Given the description of an element on the screen output the (x, y) to click on. 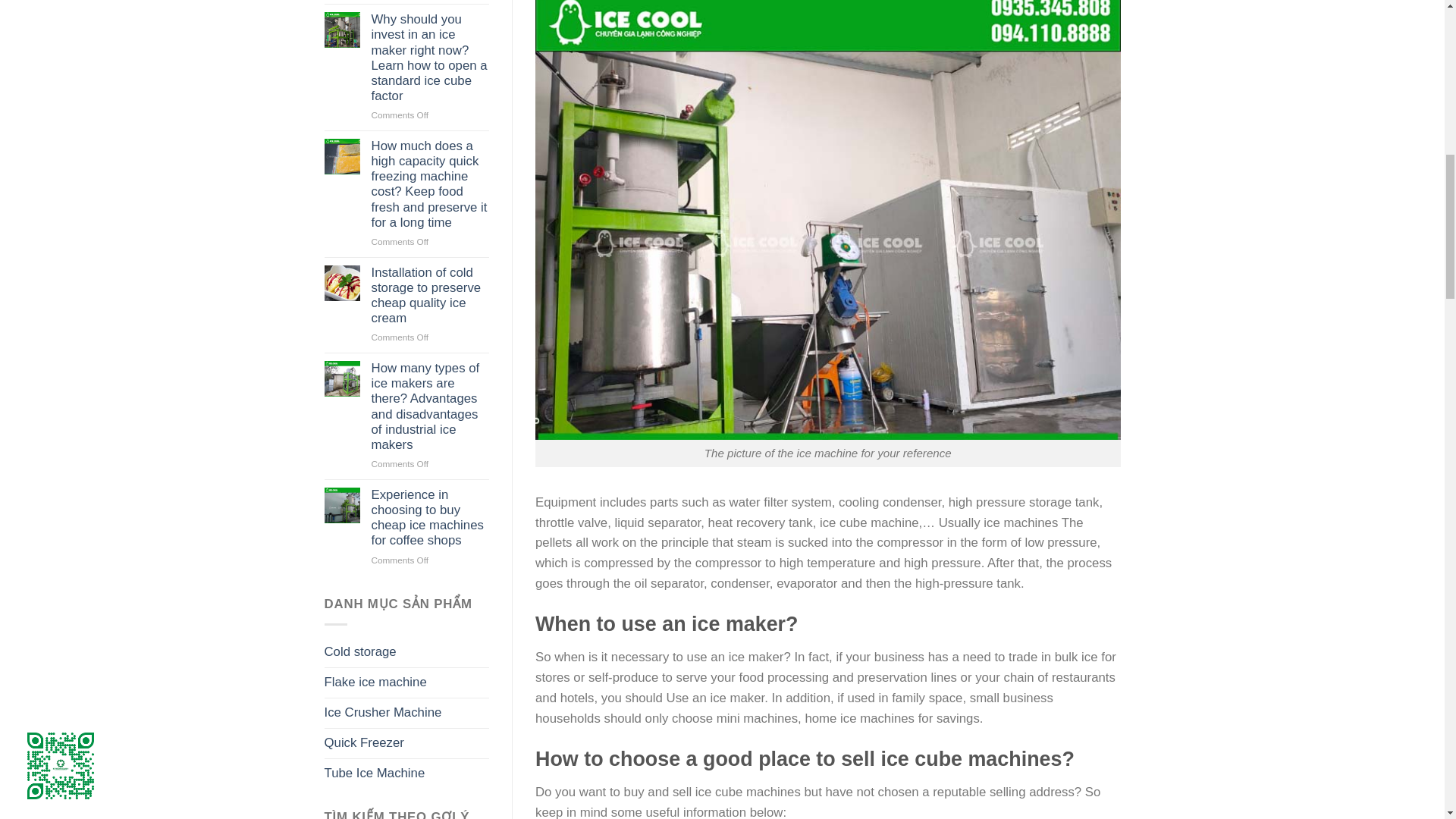
Ice Crusher Machine (406, 713)
Quick Freezer (406, 743)
Flake ice machine (406, 682)
Cold storage (406, 652)
